Given the description of an element on the screen output the (x, y) to click on. 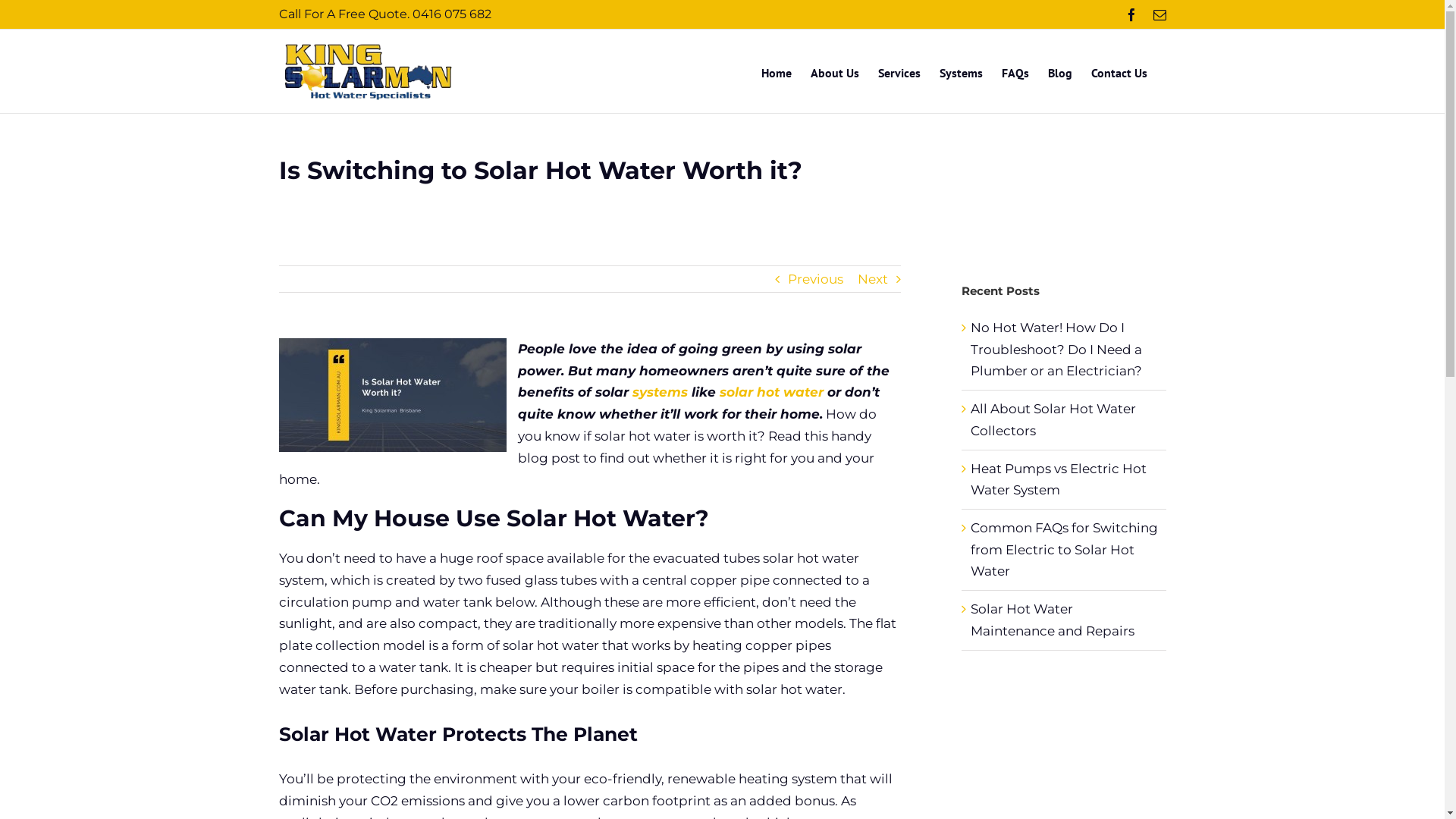
Common FAQs for Switching from Electric to Solar Hot Water Element type: text (1063, 549)
Home Element type: text (776, 70)
Contact Us Element type: text (1118, 70)
All About Solar Hot Water Collectors Element type: text (1052, 419)
Systems Element type: text (960, 70)
Services Element type: text (899, 70)
solar hot water Element type: text (770, 391)
FAQs Element type: text (1014, 70)
0416 075 682 Element type: text (451, 13)
Facebook Element type: text (1131, 14)
Previous Element type: text (815, 278)
Next Element type: text (872, 278)
About Us Element type: text (833, 70)
Heat Pumps vs Electric Hot Water System Element type: text (1058, 479)
systems Element type: text (659, 391)
Solar Hot Water Maintenance and Repairs Element type: text (1052, 619)
Blog Element type: text (1060, 70)
Email Element type: text (1158, 14)
